Given the description of an element on the screen output the (x, y) to click on. 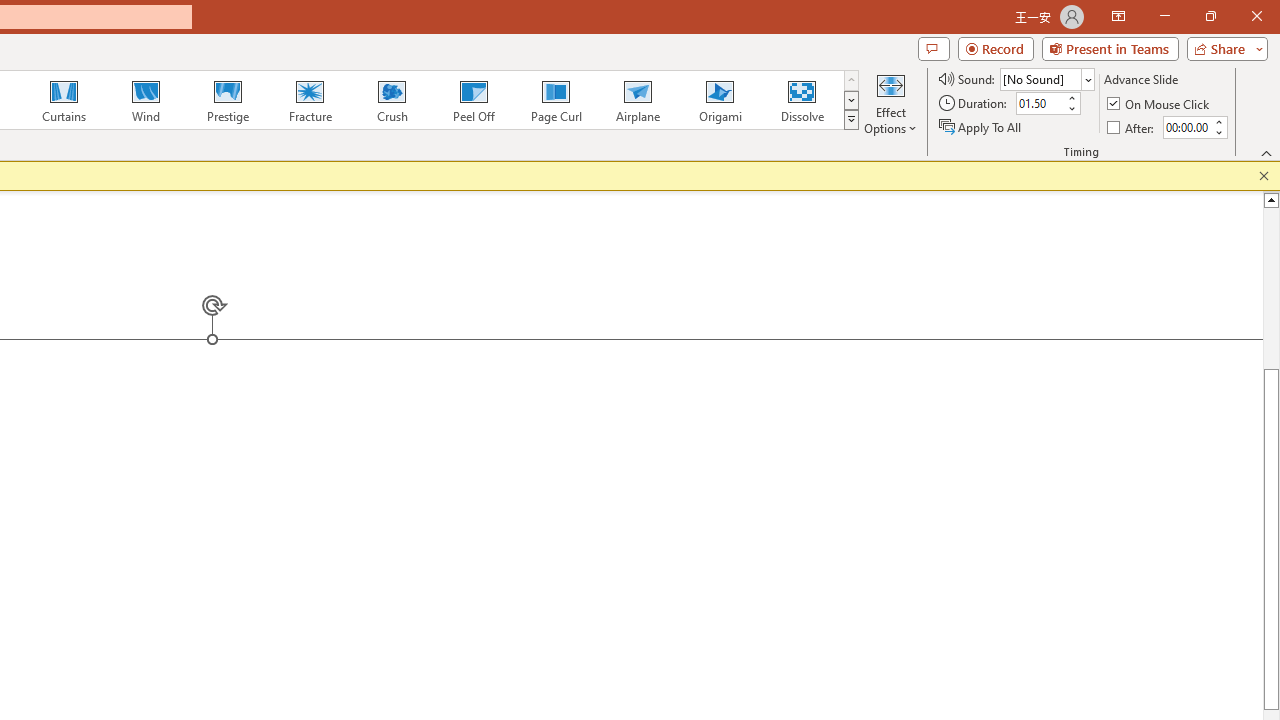
Emphasis (1130, 699)
Ribbon Display Options (1246, 221)
Clear All (1130, 353)
566ba9ff-a5b0-4b6f-bbdf-c3ab41993fc2 (1130, 382)
Mode (1080, 84)
Subtle Emphasis (1130, 670)
b63ee27f-4cf3-414c-9275-d88e3f90795e (1130, 440)
Row up (523, 134)
Subtitle (1130, 641)
